Given the description of an element on the screen output the (x, y) to click on. 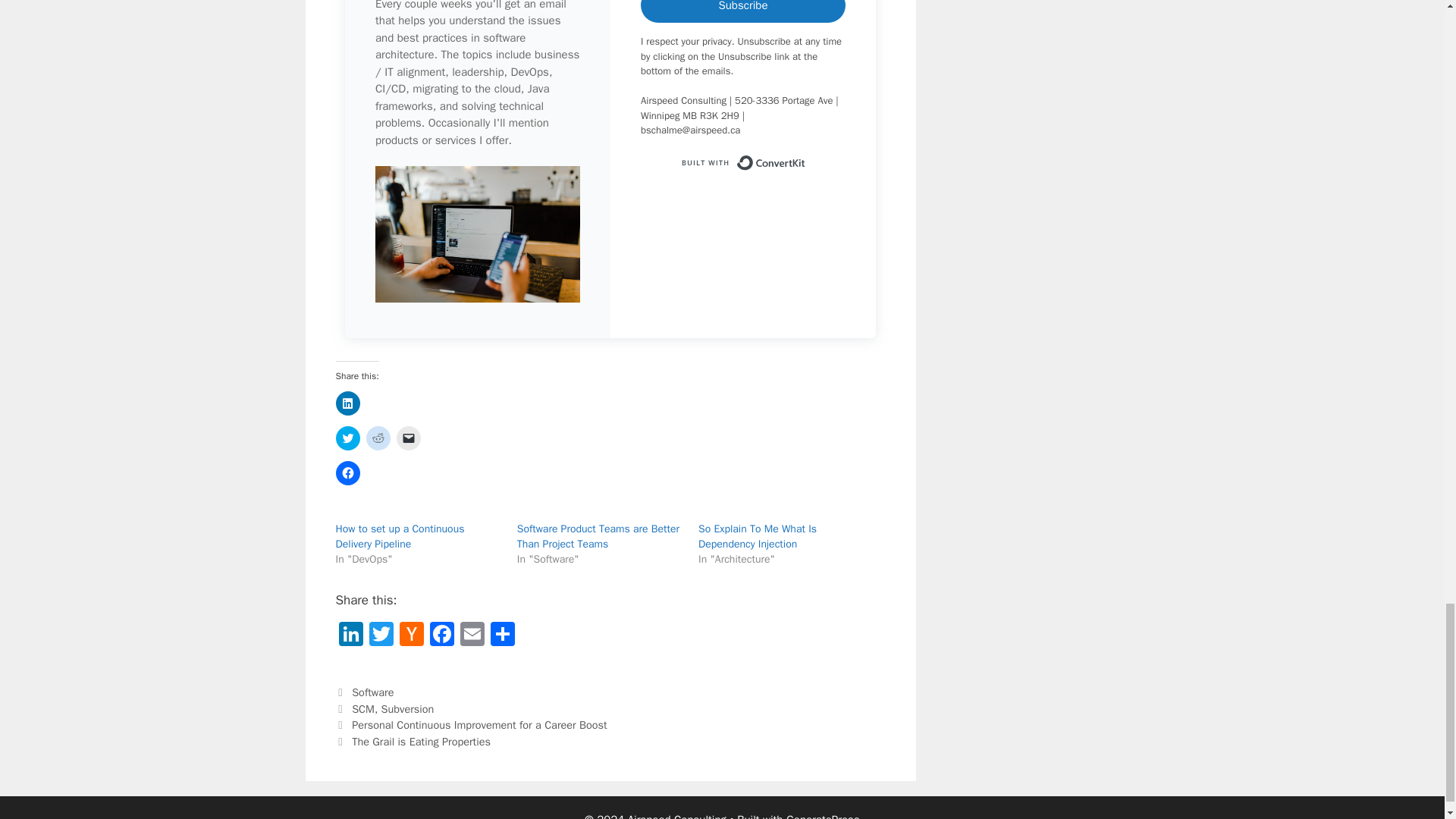
Click to share on LinkedIn (346, 403)
Subscribe (742, 11)
LinkedIn (349, 635)
SCM (363, 708)
Click to share on Twitter (346, 437)
Facebook (441, 635)
Facebook (441, 635)
Hacker News (411, 635)
Personal Continuous Improvement for a Career Boost (479, 725)
Software Product Teams are Better Than Project Teams (597, 536)
How to set up a Continuous Delivery Pipeline (399, 536)
So Explain To Me What Is Dependency Injection (757, 536)
Software (372, 692)
Email (471, 635)
Twitter (380, 635)
